Given the description of an element on the screen output the (x, y) to click on. 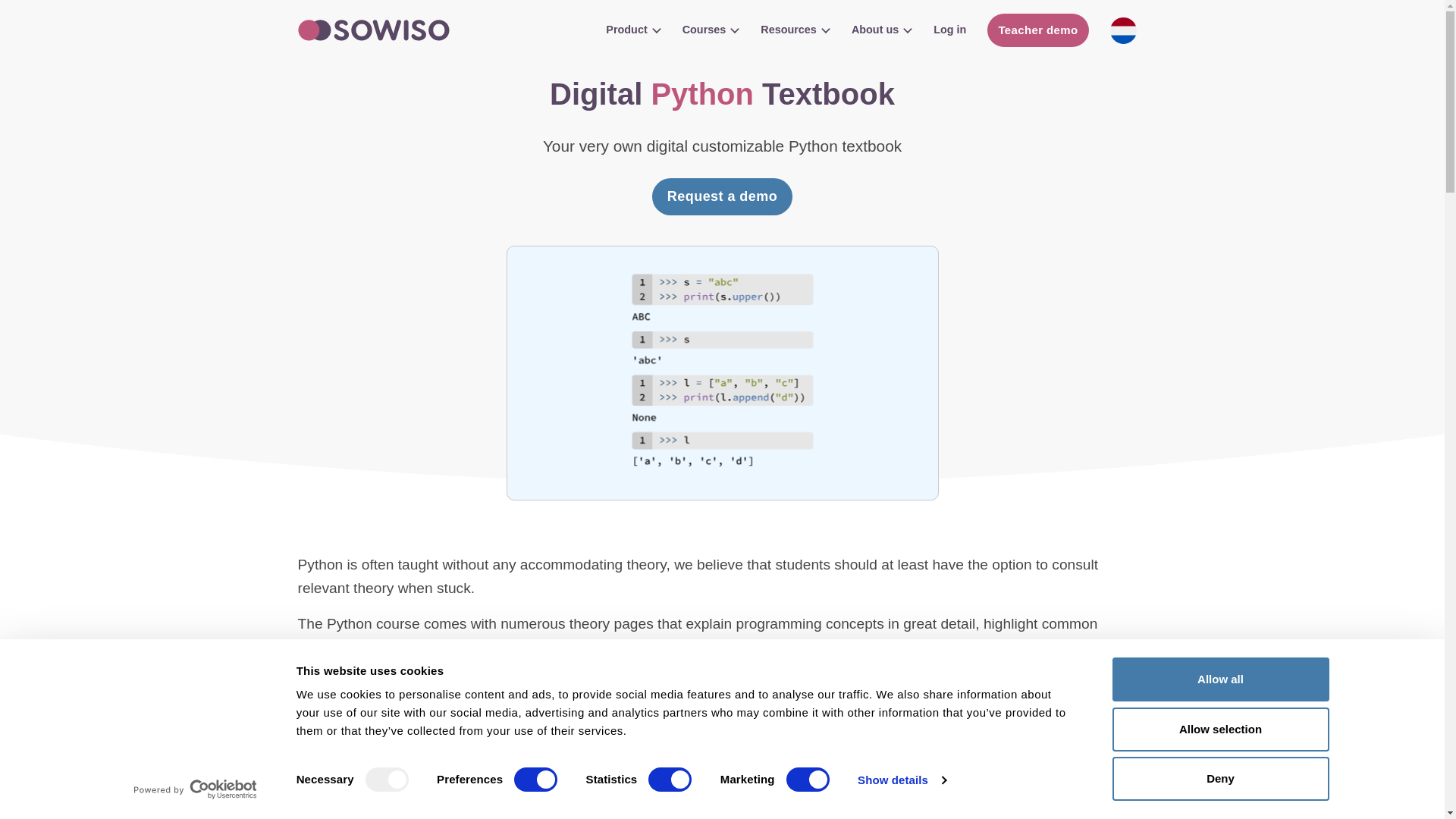
Allow selection (1219, 728)
Hogeschool van Arnhem en Nijmegen (529, 779)
Vrije Universiteit Amsterdam (1175, 779)
ONCAMPUS Amsterdam (753, 761)
Hogeschool van Utrecht (1013, 779)
Hogeschool van Arnhem en Nijmegen (591, 761)
Hogeschool van Utrecht (1076, 761)
Show details (900, 780)
University of Agder (914, 761)
University of Agder (852, 779)
Deny (1219, 778)
ONCAMPUS Amsterdam (691, 779)
Deakin University (429, 761)
Allow all (1219, 679)
